Given the description of an element on the screen output the (x, y) to click on. 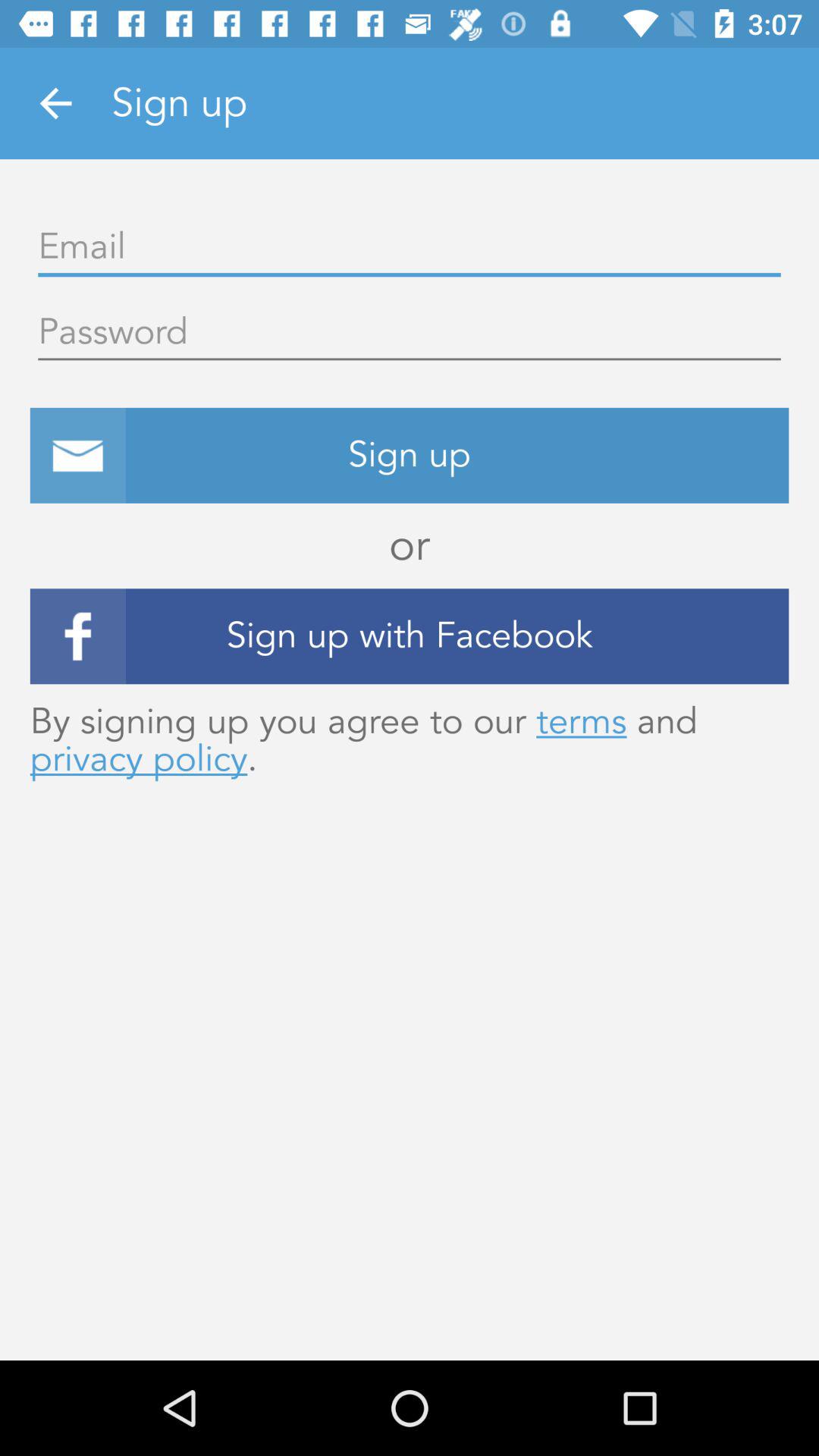
input password (409, 332)
